Given the description of an element on the screen output the (x, y) to click on. 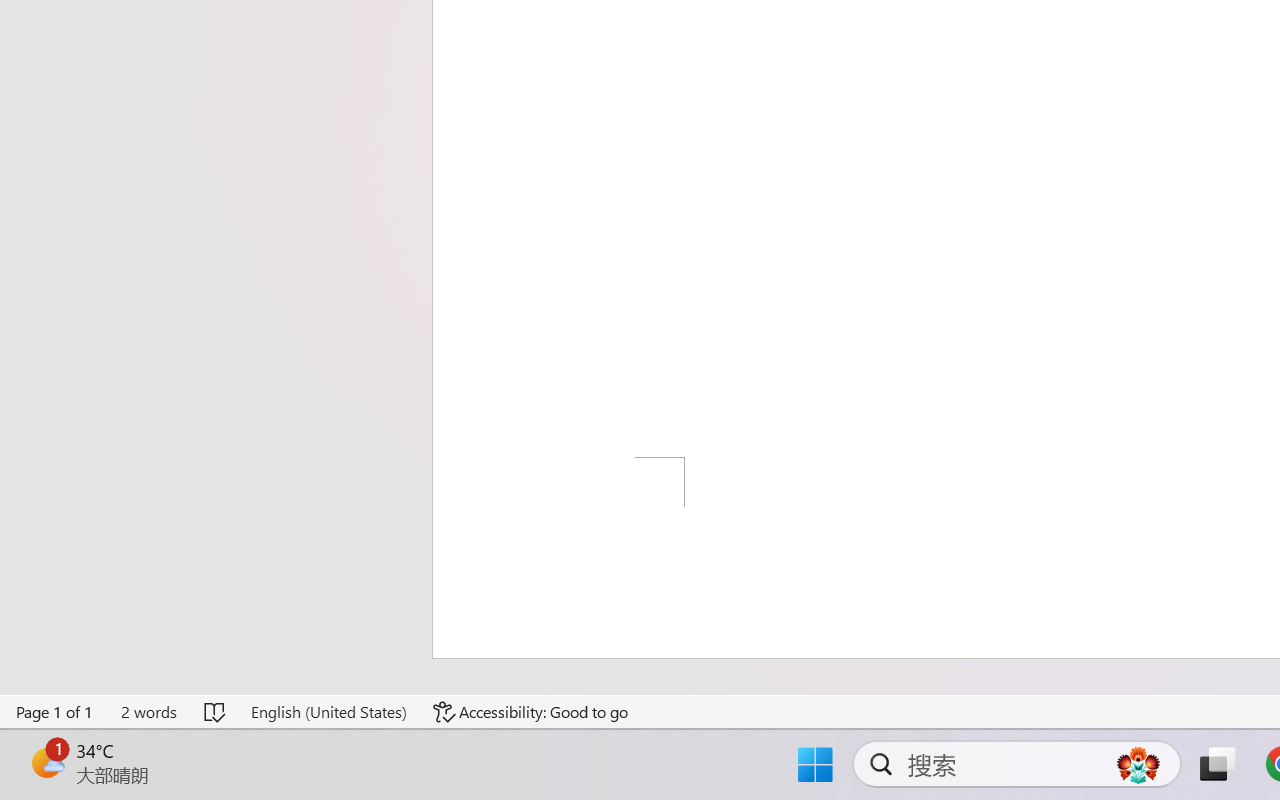
AutomationID: DynamicSearchBoxGleamImage (1138, 764)
AutomationID: BadgeAnchorLargeTicker (46, 762)
Page Number Page 1 of 1 (55, 712)
Spelling and Grammar Check No Errors (216, 712)
Accessibility Checker Accessibility: Good to go (531, 712)
Language English (United States) (328, 712)
